Given the description of an element on the screen output the (x, y) to click on. 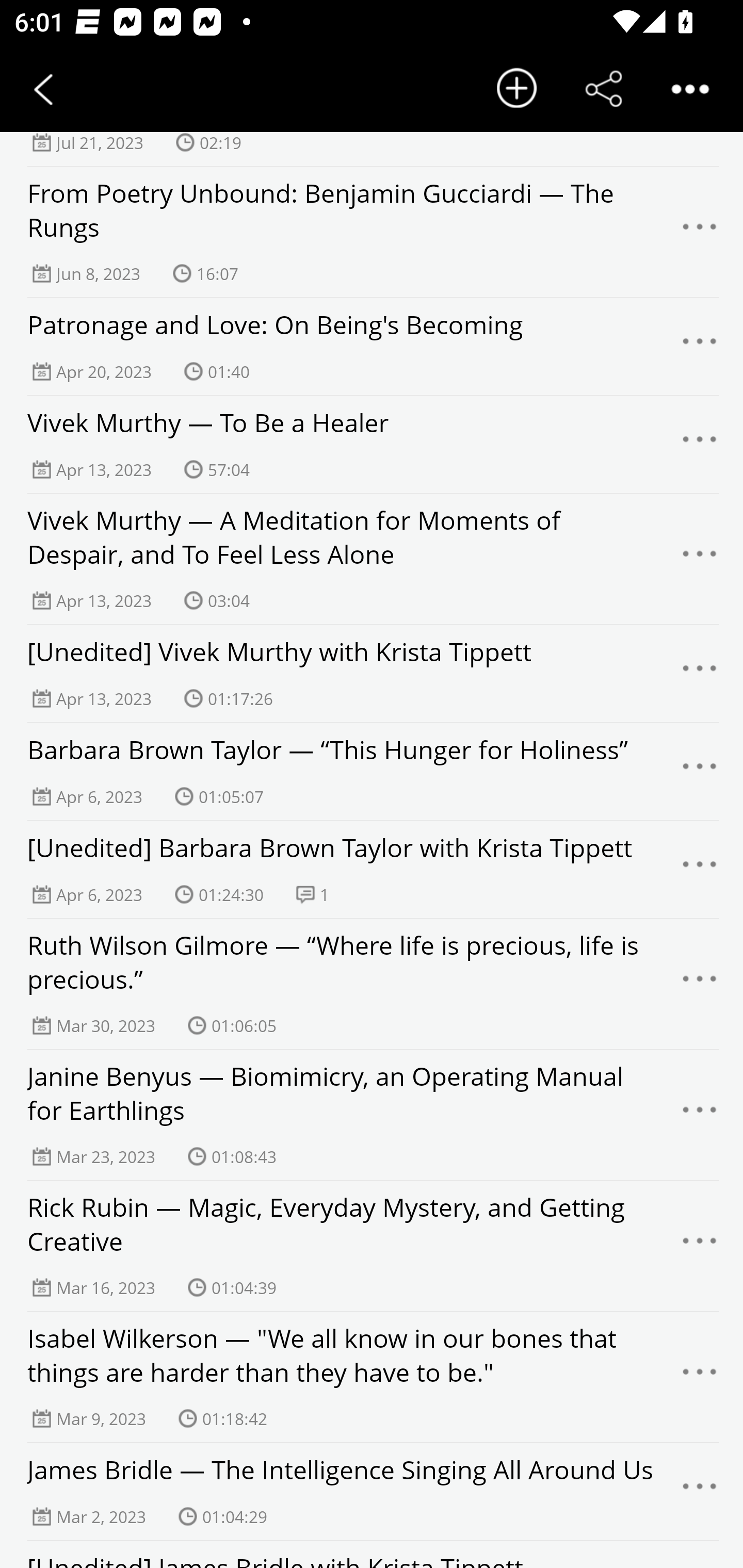
Back (43, 88)
Menu (699, 231)
Menu (699, 346)
Menu (699, 444)
Menu (699, 558)
Menu (699, 673)
Menu (699, 771)
Menu (699, 869)
Menu (699, 983)
Menu (699, 1115)
Menu (699, 1245)
Menu (699, 1377)
Menu (699, 1491)
